Given the description of an element on the screen output the (x, y) to click on. 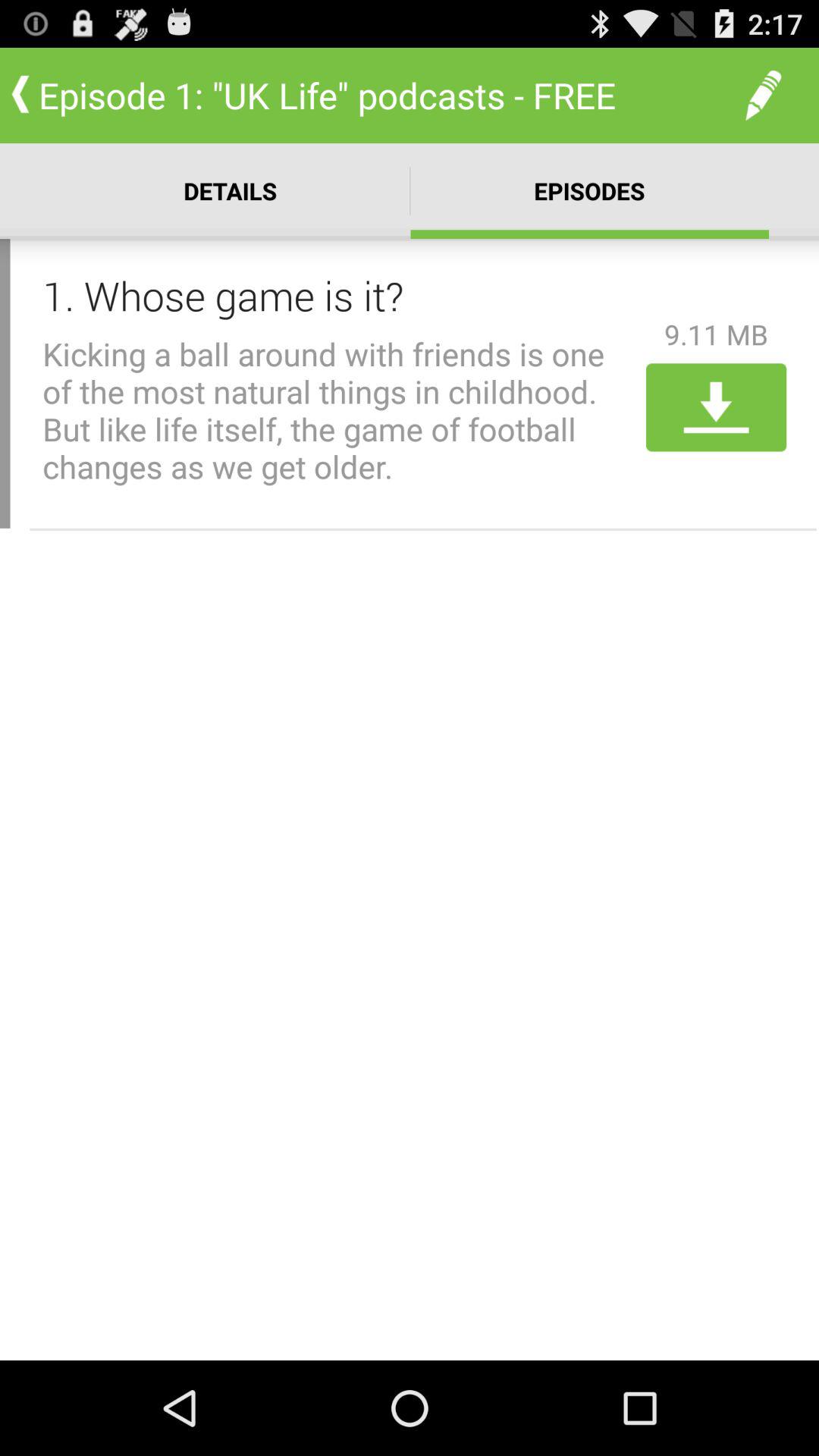
open item to the left of 1 whose game item (5, 383)
